Given the description of an element on the screen output the (x, y) to click on. 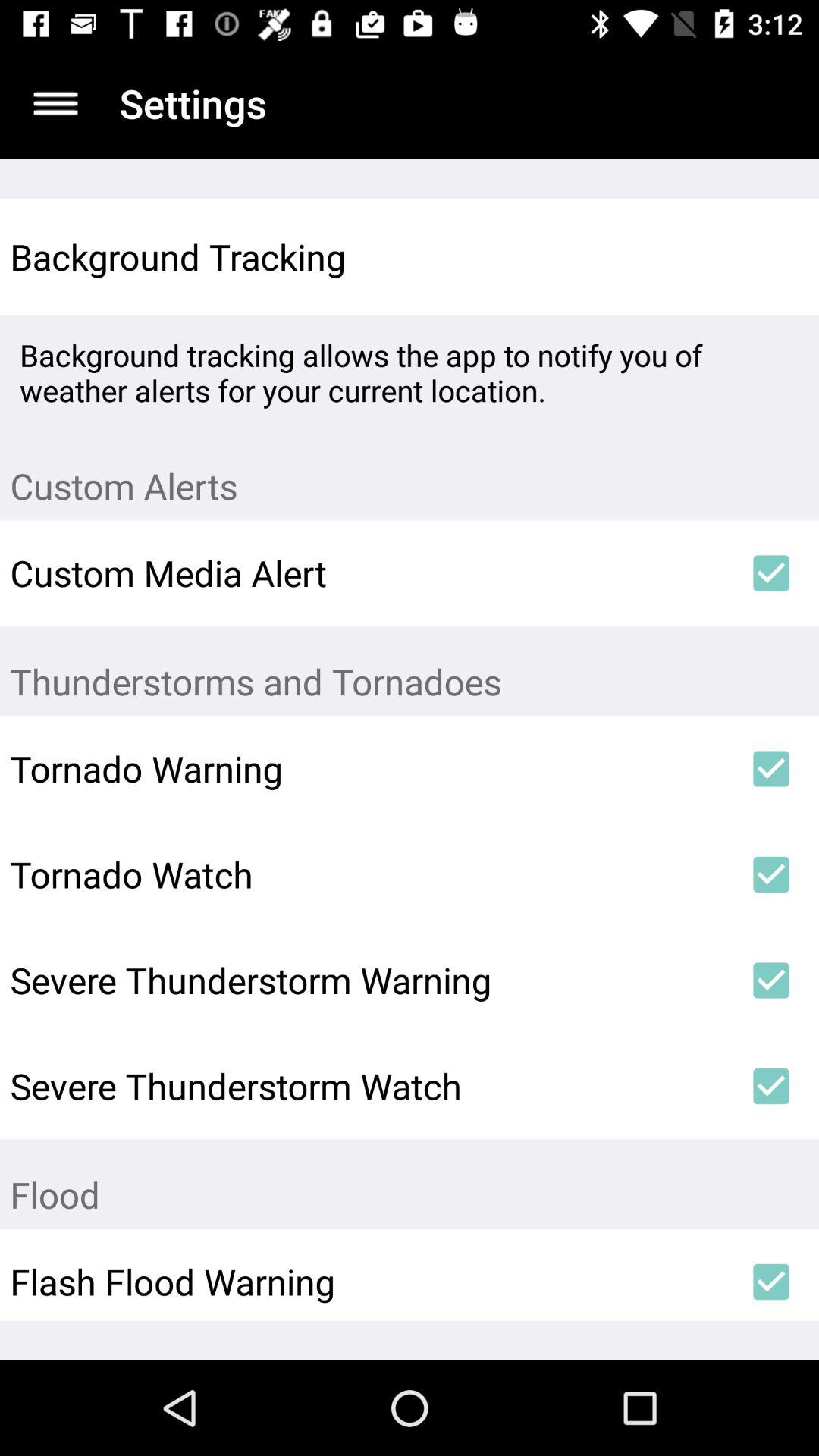
scroll to the flash flood warning (366, 1281)
